Given the description of an element on the screen output the (x, y) to click on. 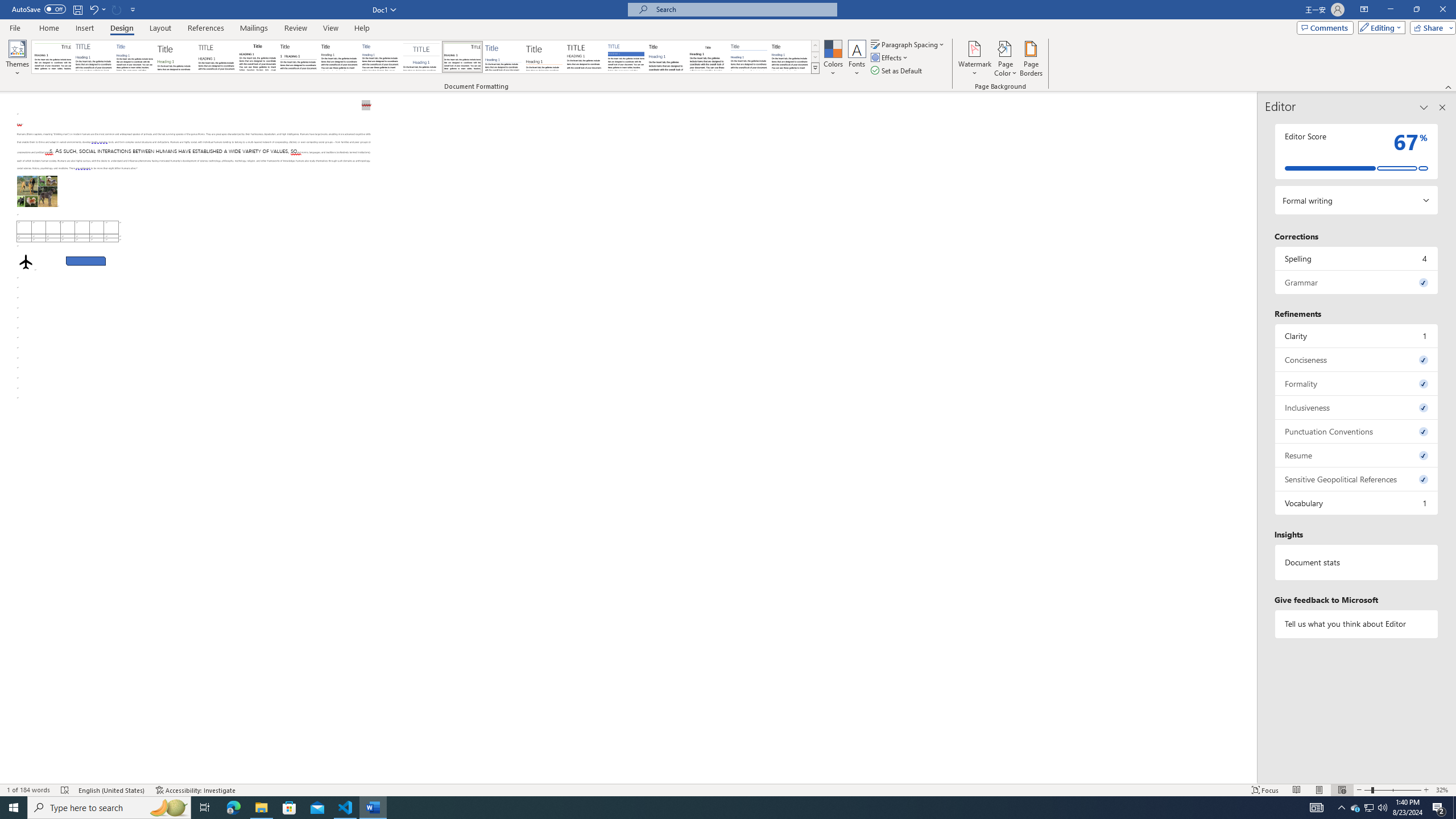
Vocabulary, 1 issue. Press space or enter to review items. (1356, 502)
Undo Apply Quick Style Set (92, 9)
Airplane with solid fill (25, 262)
Page Borders... (1031, 58)
Spelling, 4 issues. Press space or enter to review items. (1356, 258)
Black & White (Numbered) (298, 56)
Resume, 0 issues. Press space or enter to review items. (1356, 454)
